Given the description of an element on the screen output the (x, y) to click on. 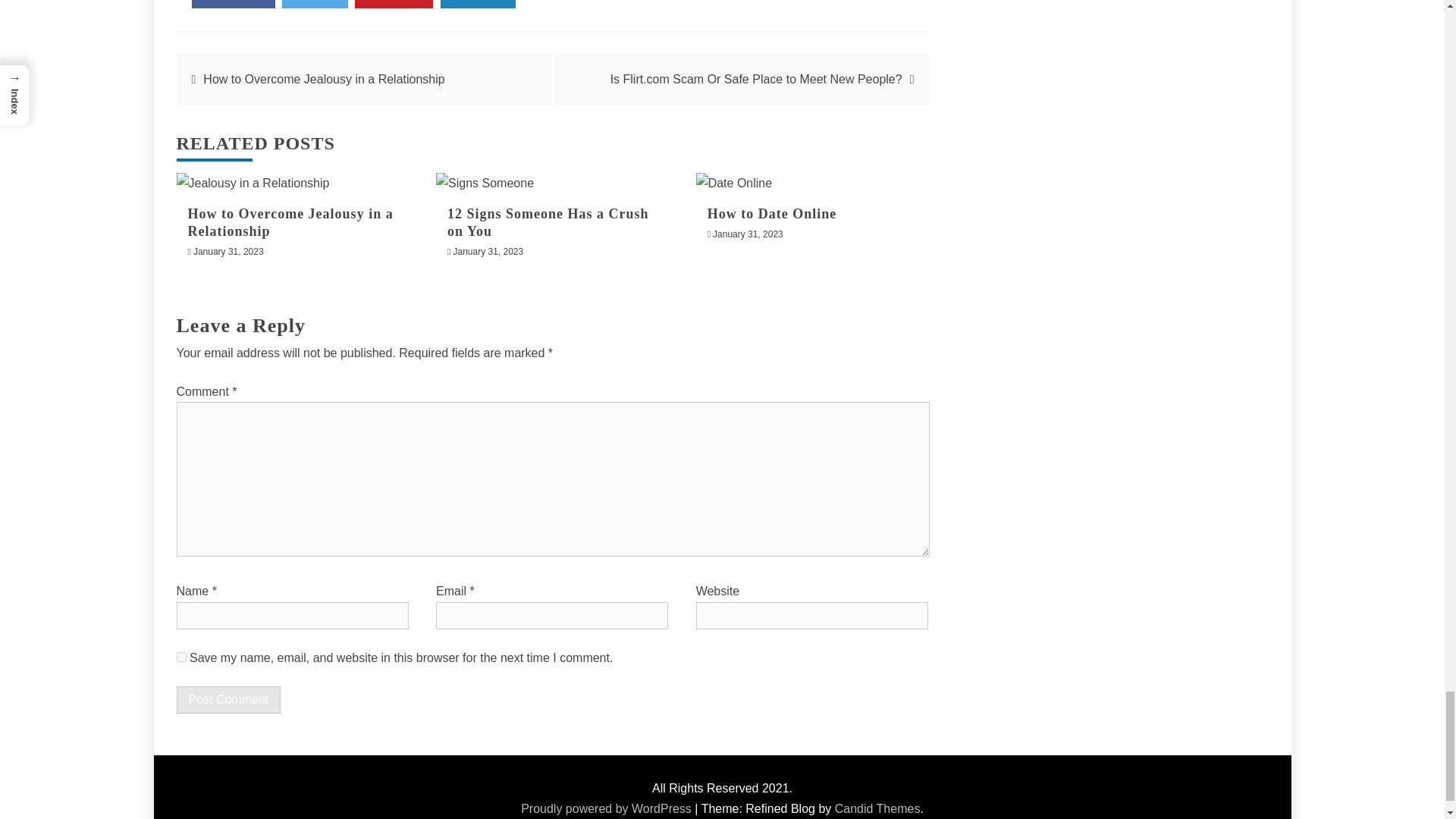
How to Overcome Jealousy in a Relationship (290, 221)
How to Date Online (772, 212)
January 31, 2023 (487, 251)
How to Overcome Jealousy in a Relationship (323, 78)
Facebook (232, 4)
Is Flirt.com Scam Or Safe Place to Meet New People? (756, 78)
Linkedin (478, 4)
Pinterest (393, 4)
12 Signs Someone Has a Crush on You (547, 221)
Twitter (314, 4)
Post Comment (228, 699)
January 31, 2023 (228, 251)
yes (181, 656)
